Given the description of an element on the screen output the (x, y) to click on. 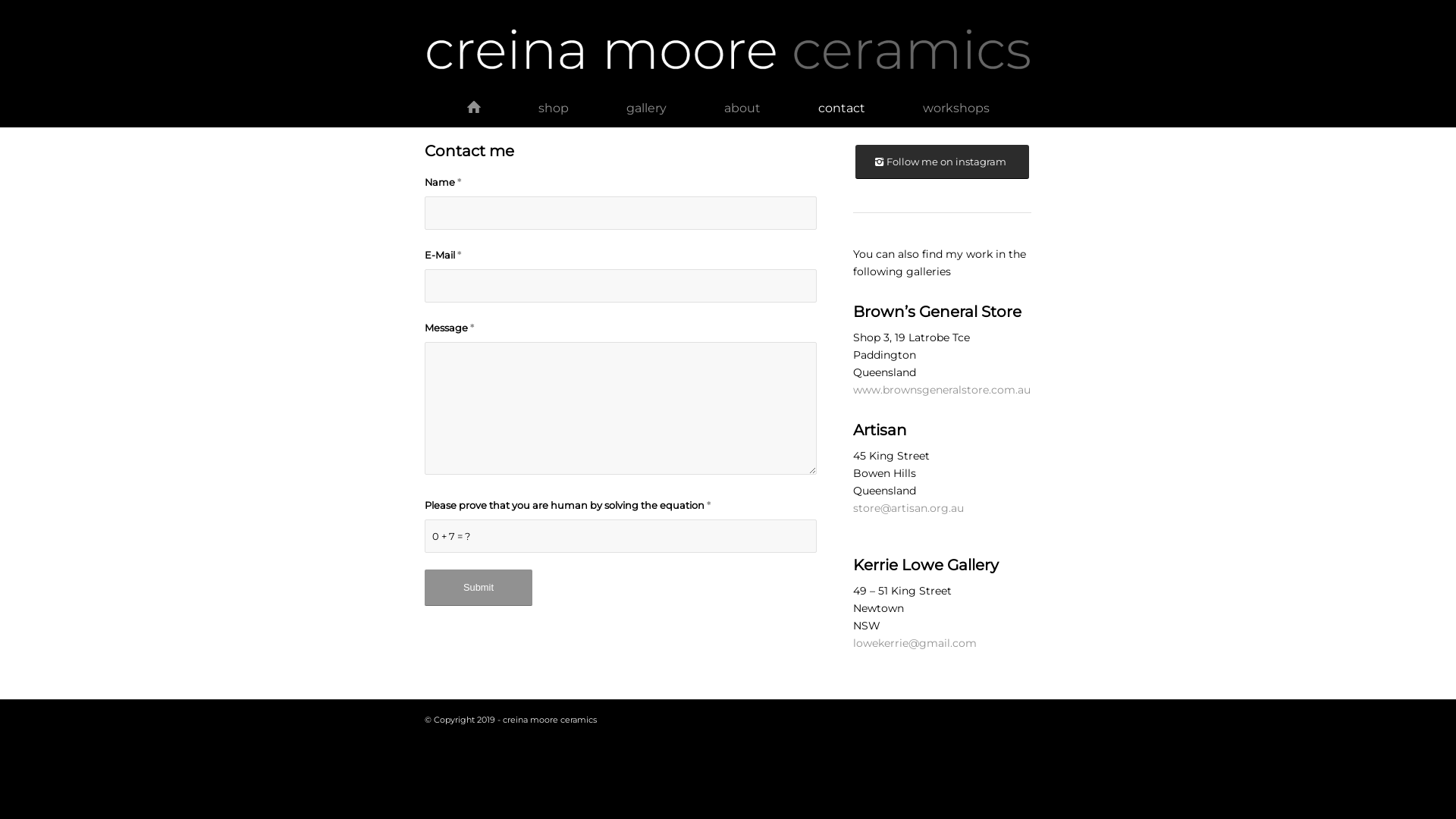
gallery Element type: text (646, 108)
shop Element type: text (553, 108)
lowekerrie@gmail.com Element type: text (914, 642)
store@artisan.org.au Element type: text (908, 507)
Follow me on instagram Element type: text (942, 161)
workshops Element type: text (955, 108)
www.brownsgeneralstore.com.au Element type: text (941, 389)
contact Element type: text (840, 108)
banner-update Element type: hover (727, 51)
Submit Element type: text (478, 587)
about Element type: text (741, 108)
